Given the description of an element on the screen output the (x, y) to click on. 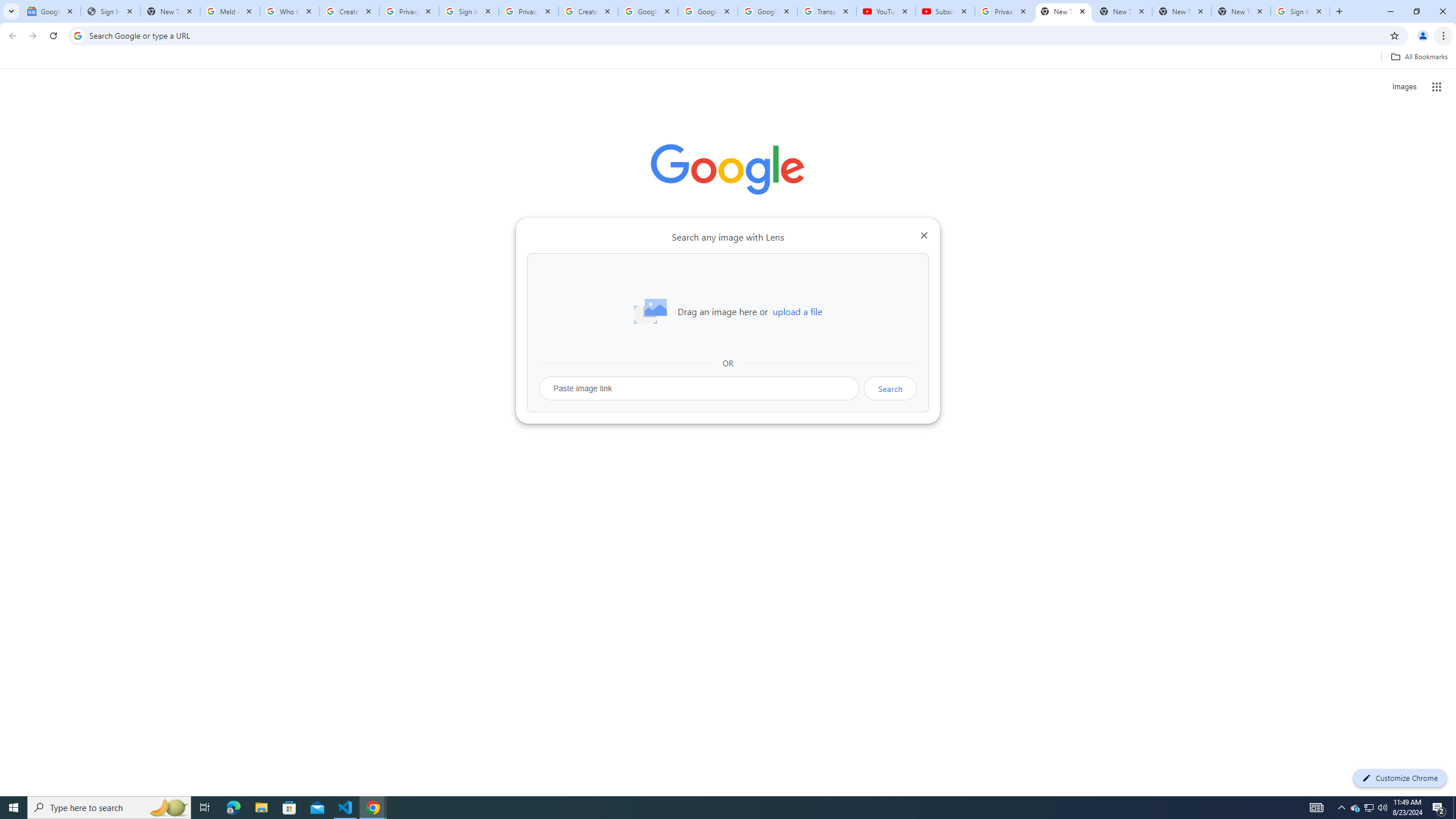
Create your Google Account (349, 11)
Chrome Web Store (663, 287)
Sign in - Google Accounts (468, 11)
Who is my administrator? - Google Account Help (289, 11)
Sign in - Google Accounts (1300, 11)
Create your Google Account (588, 11)
New Tab (1241, 11)
